Given the description of an element on the screen output the (x, y) to click on. 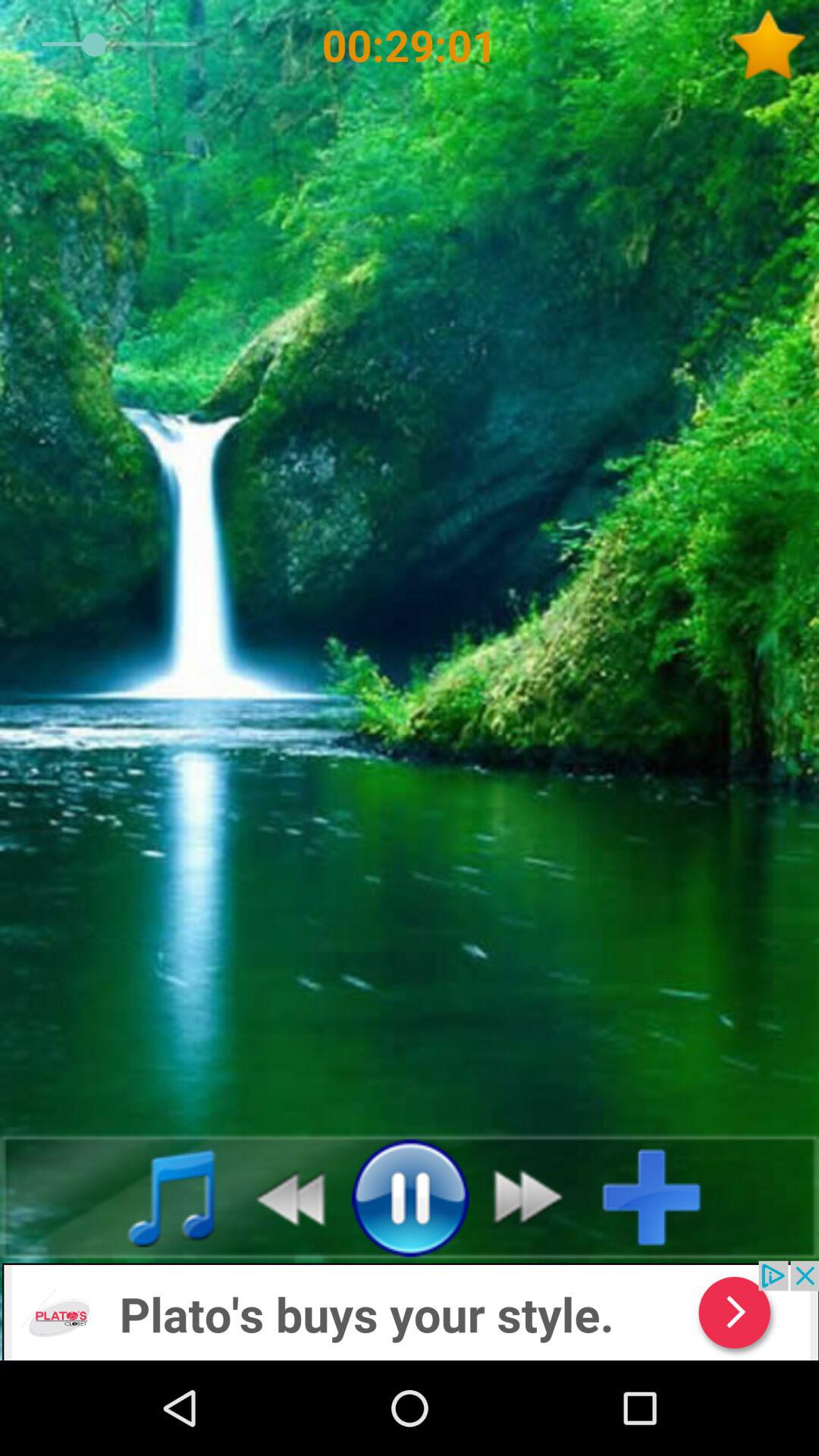
go to music file (154, 1196)
